Given the description of an element on the screen output the (x, y) to click on. 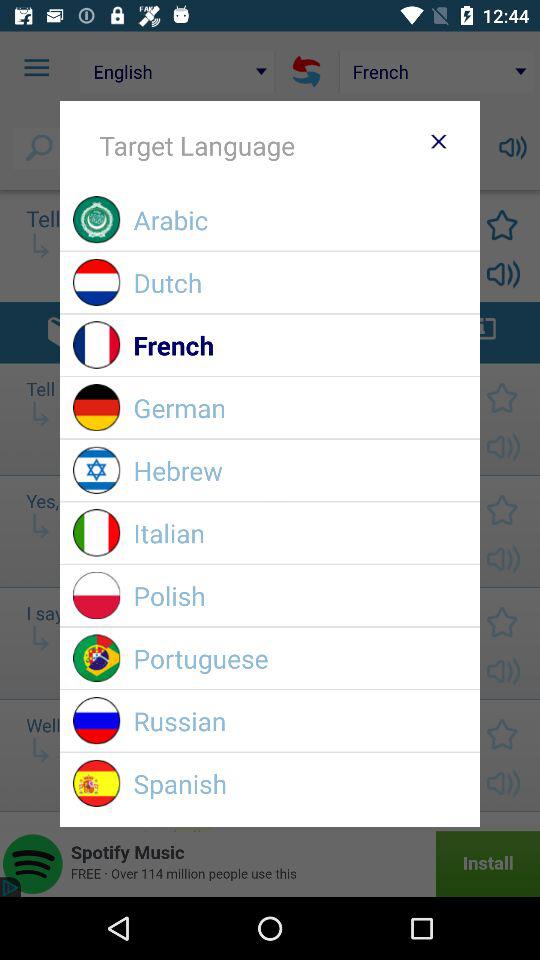
open the item above the german item (300, 344)
